Given the description of an element on the screen output the (x, y) to click on. 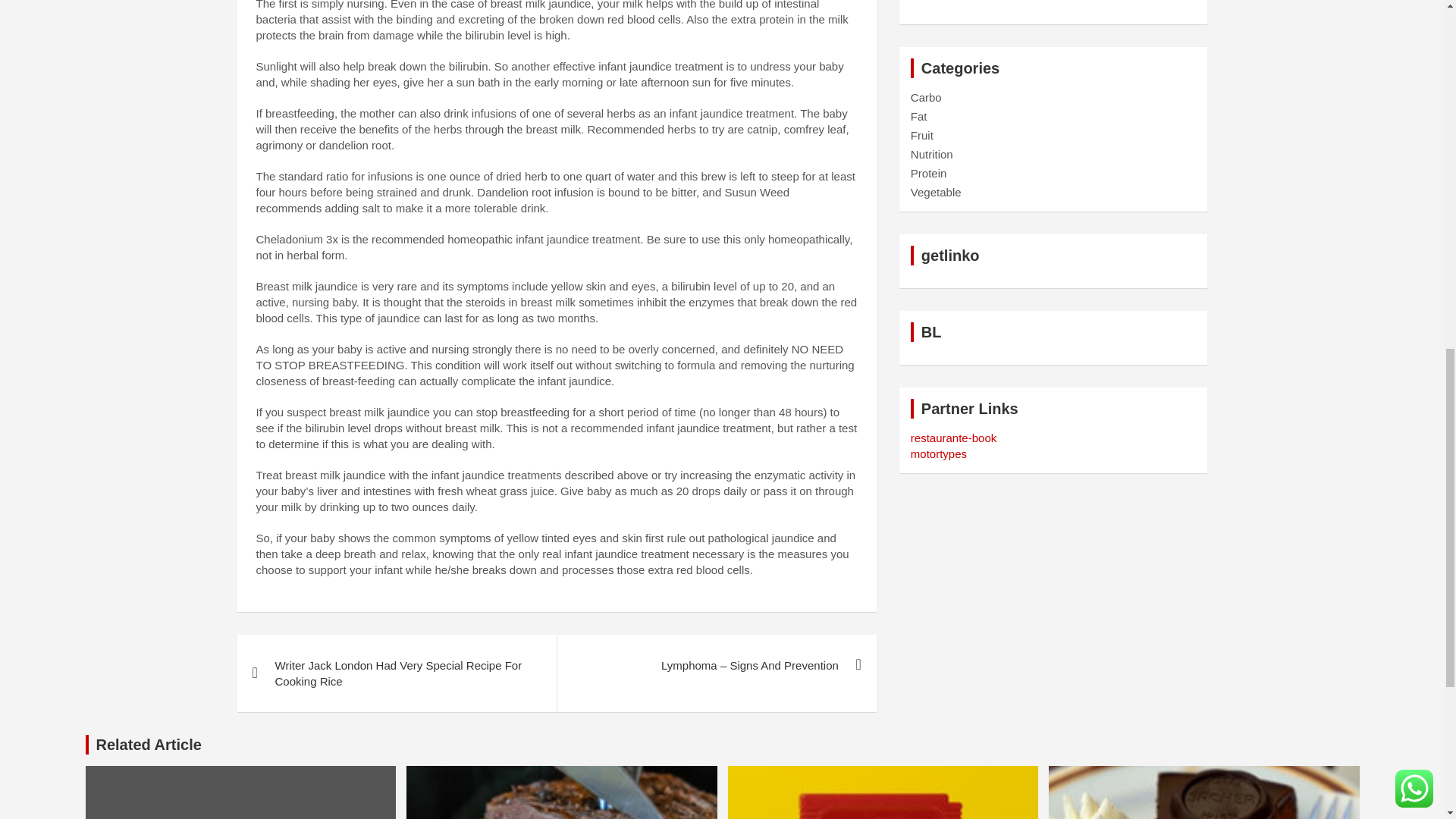
Carbo (926, 97)
Writer Jack London Had Very Special Recipe For Cooking Rice (395, 672)
motortypes (938, 453)
restaurante-book (953, 437)
Protein (929, 173)
Fruit (922, 134)
Related Article (148, 744)
Vegetable (935, 192)
Nutrition (932, 154)
Fat (919, 115)
